Given the description of an element on the screen output the (x, y) to click on. 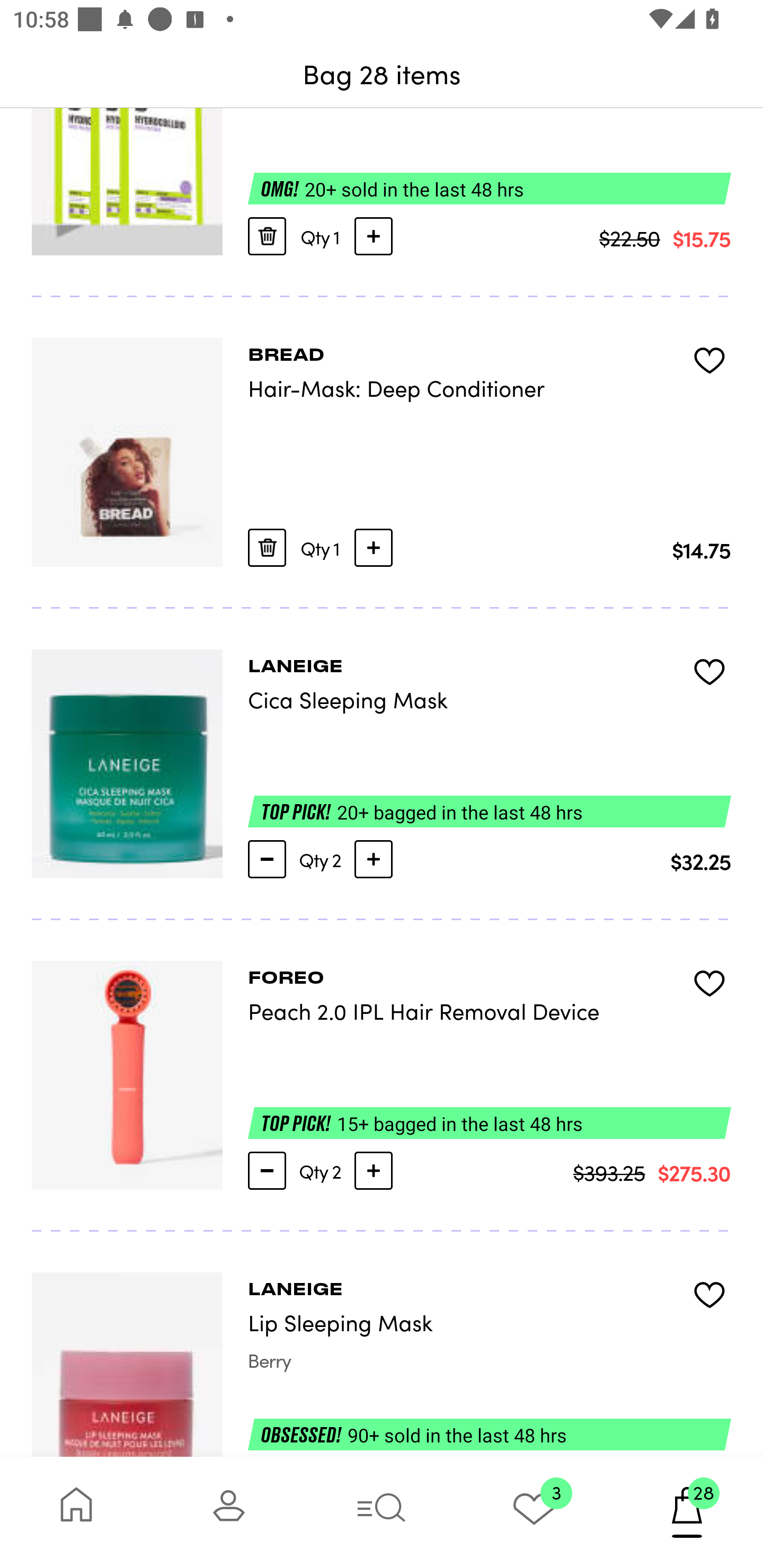
BREAD Hair-Mask: Deep Conditioner Qty 1 $14.75 (381, 452)
3 (533, 1512)
28 (686, 1512)
